Given the description of an element on the screen output the (x, y) to click on. 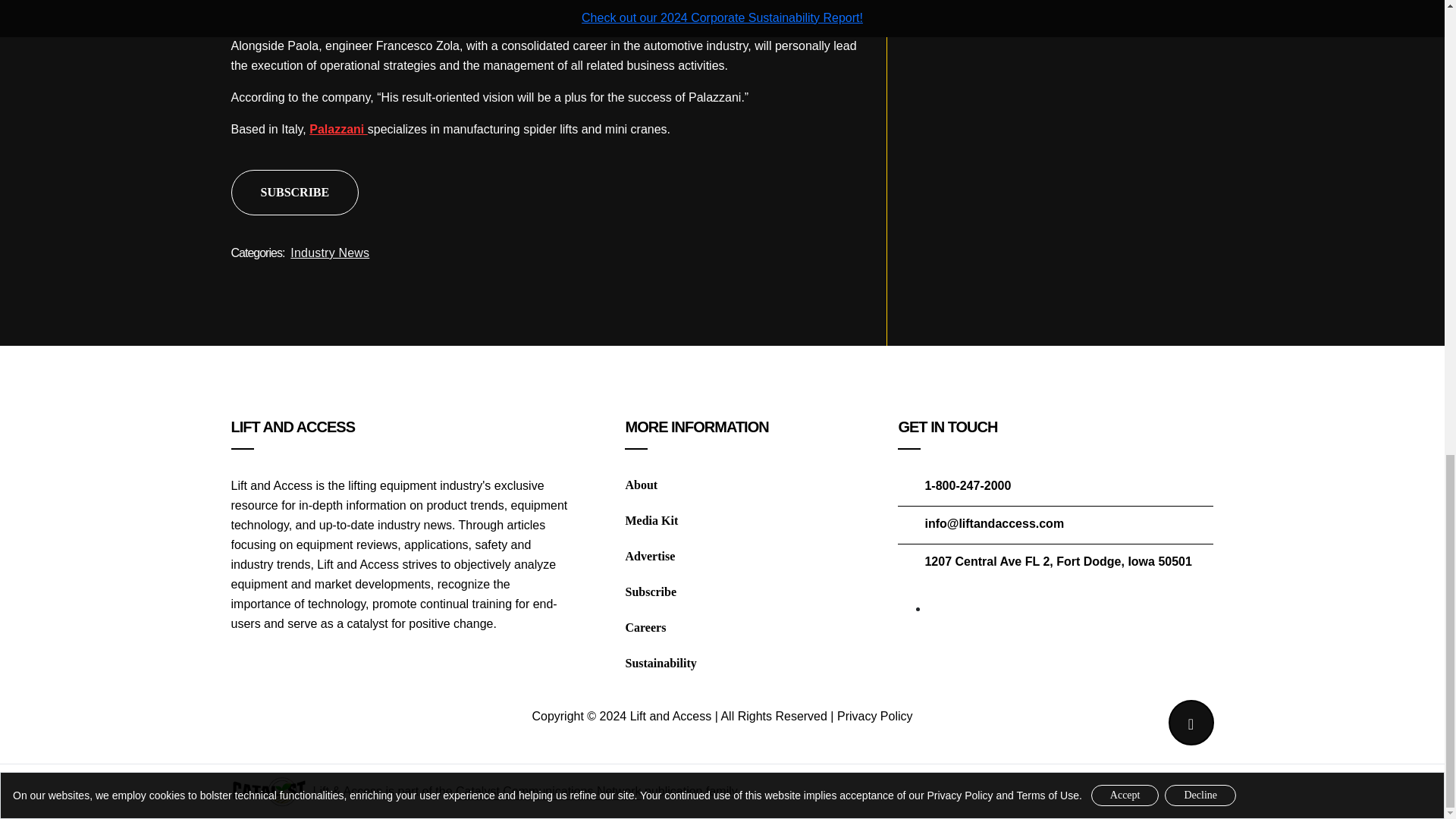
Advertise (649, 555)
Subscribe (650, 591)
1-800-247-2000 (967, 485)
Media Kit (651, 520)
SUBSCRIBE (294, 192)
About (641, 484)
Sustainability (659, 662)
Catalyst Communications Network (548, 790)
Industry News (329, 252)
Go To Top (1189, 722)
